Given the description of an element on the screen output the (x, y) to click on. 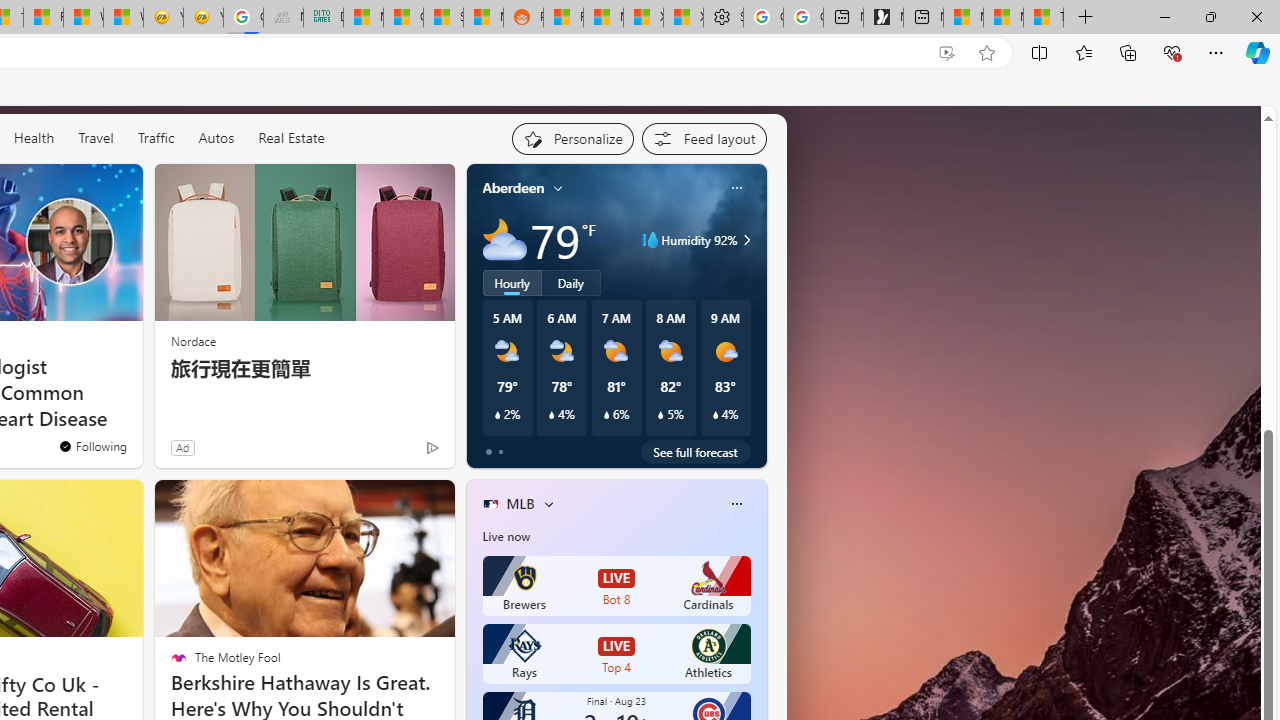
Travel (95, 137)
Class: weather-current-precipitation-glyph (715, 415)
You're following Newsweek (92, 445)
Navy Quest (283, 17)
These 3 Stocks Pay You More Than 5% to Own Them (1043, 17)
Feed settings (703, 138)
Traffic (155, 138)
